Given the description of an element on the screen output the (x, y) to click on. 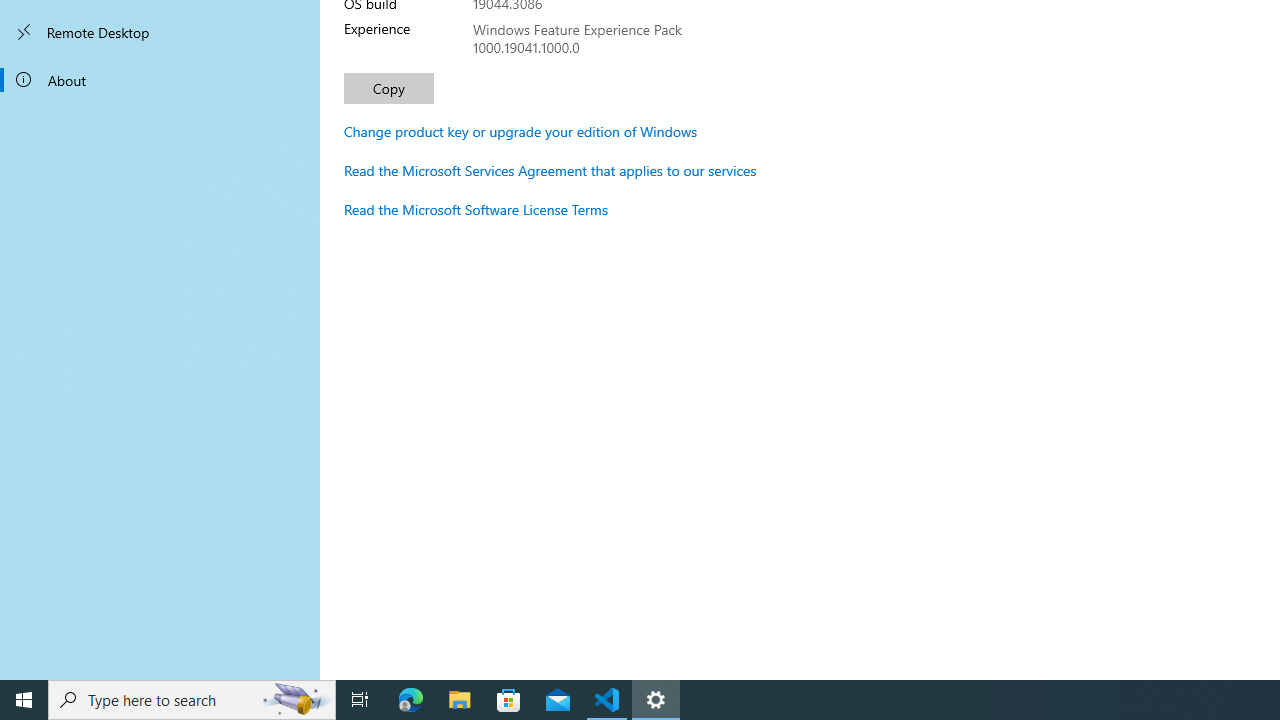
Copy (388, 87)
Read the Microsoft Software License Terms (476, 209)
Change product key or upgrade your edition of Windows (520, 131)
Remote Desktop (160, 31)
About (160, 79)
